Given the description of an element on the screen output the (x, y) to click on. 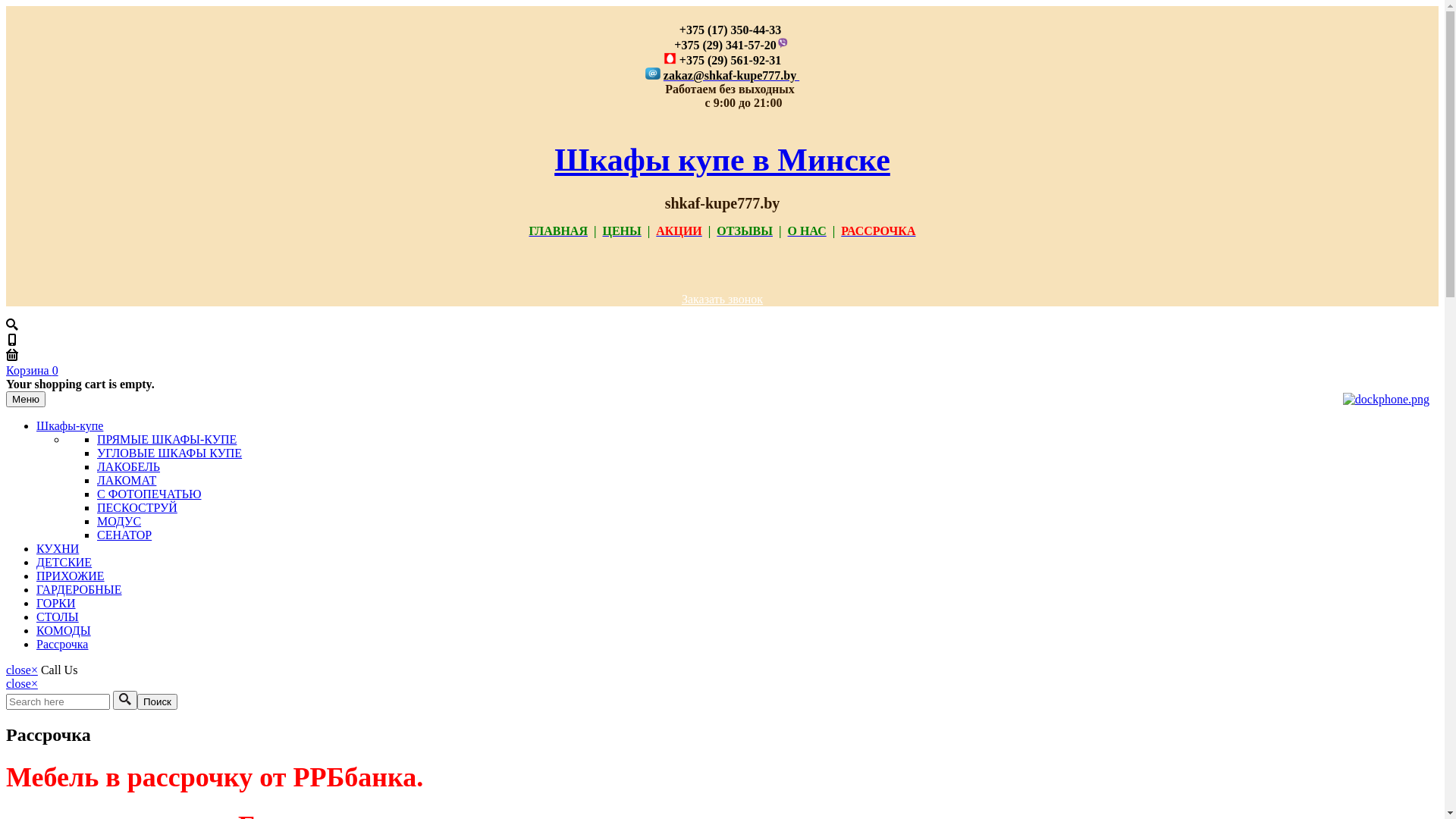
zakaz@shkaf-kupe777.by  Element type: text (731, 75)
